Given the description of an element on the screen output the (x, y) to click on. 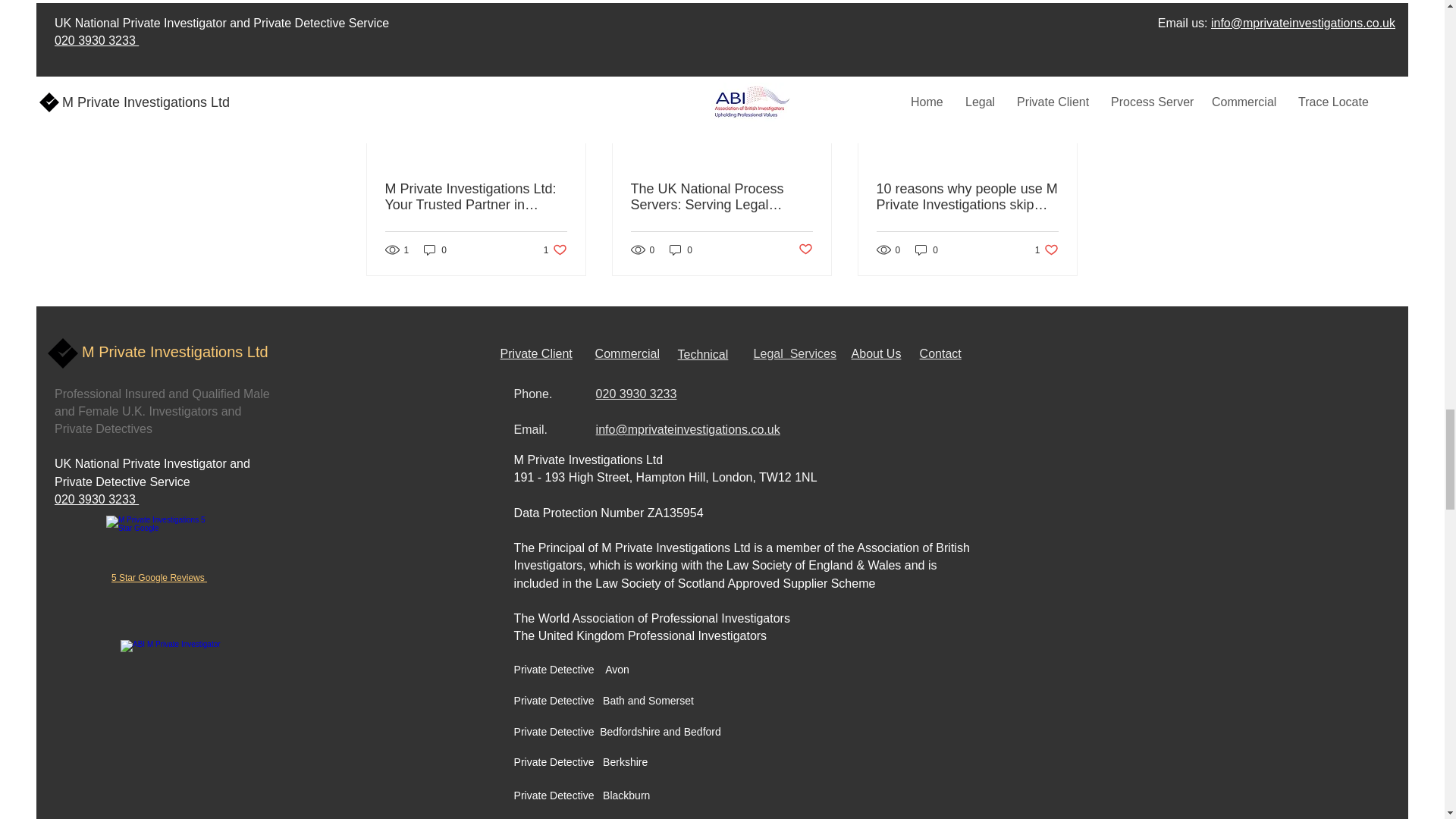
M Private Investigations (160, 543)
M Private Investigations (174, 665)
